Given the description of an element on the screen output the (x, y) to click on. 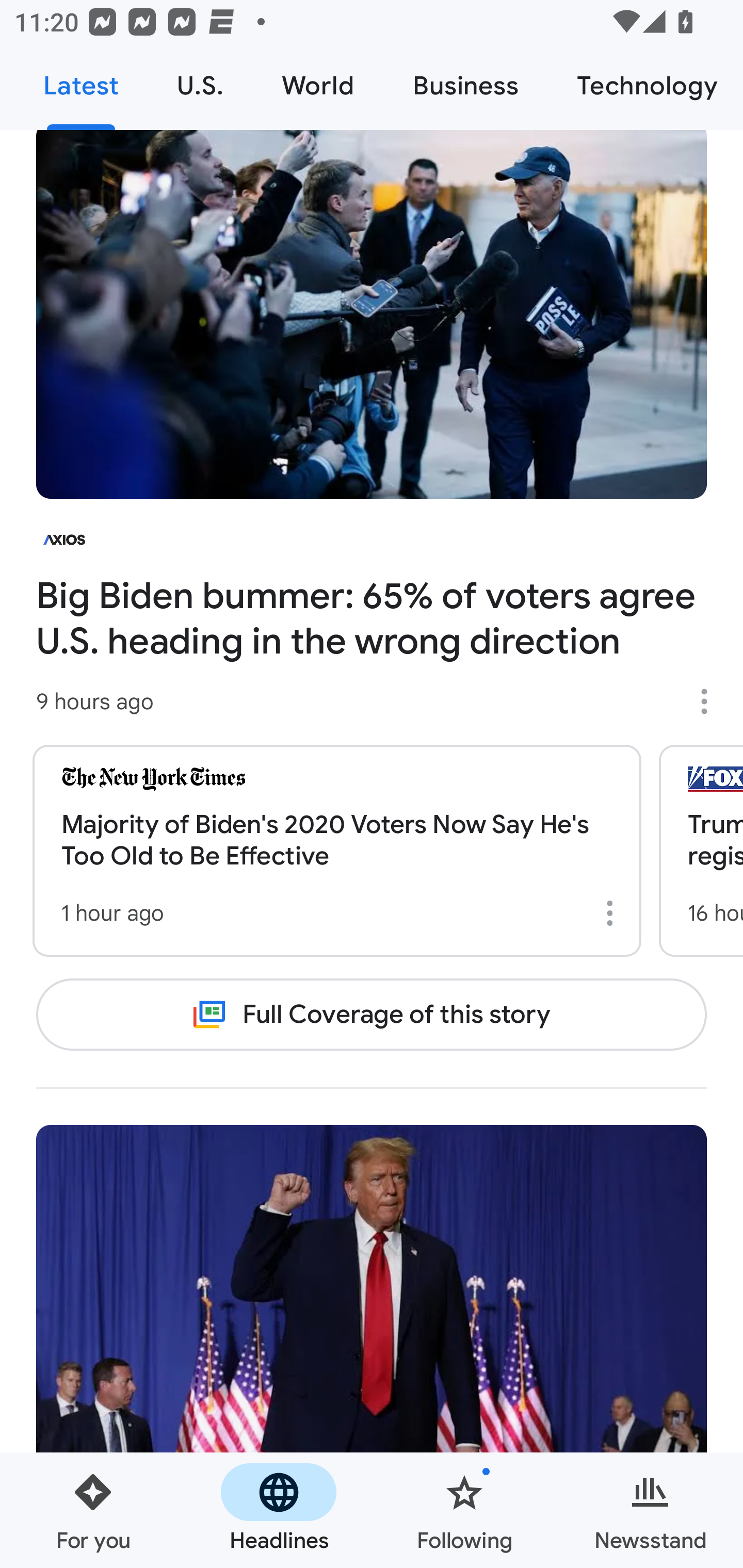
U.S. (199, 86)
World (317, 86)
Business (465, 86)
Technology (645, 86)
More options (711, 701)
More options (613, 912)
Full Coverage of this story (371, 1014)
For you (92, 1509)
Headlines (278, 1509)
Following (464, 1509)
Newsstand (650, 1509)
